Given the description of an element on the screen output the (x, y) to click on. 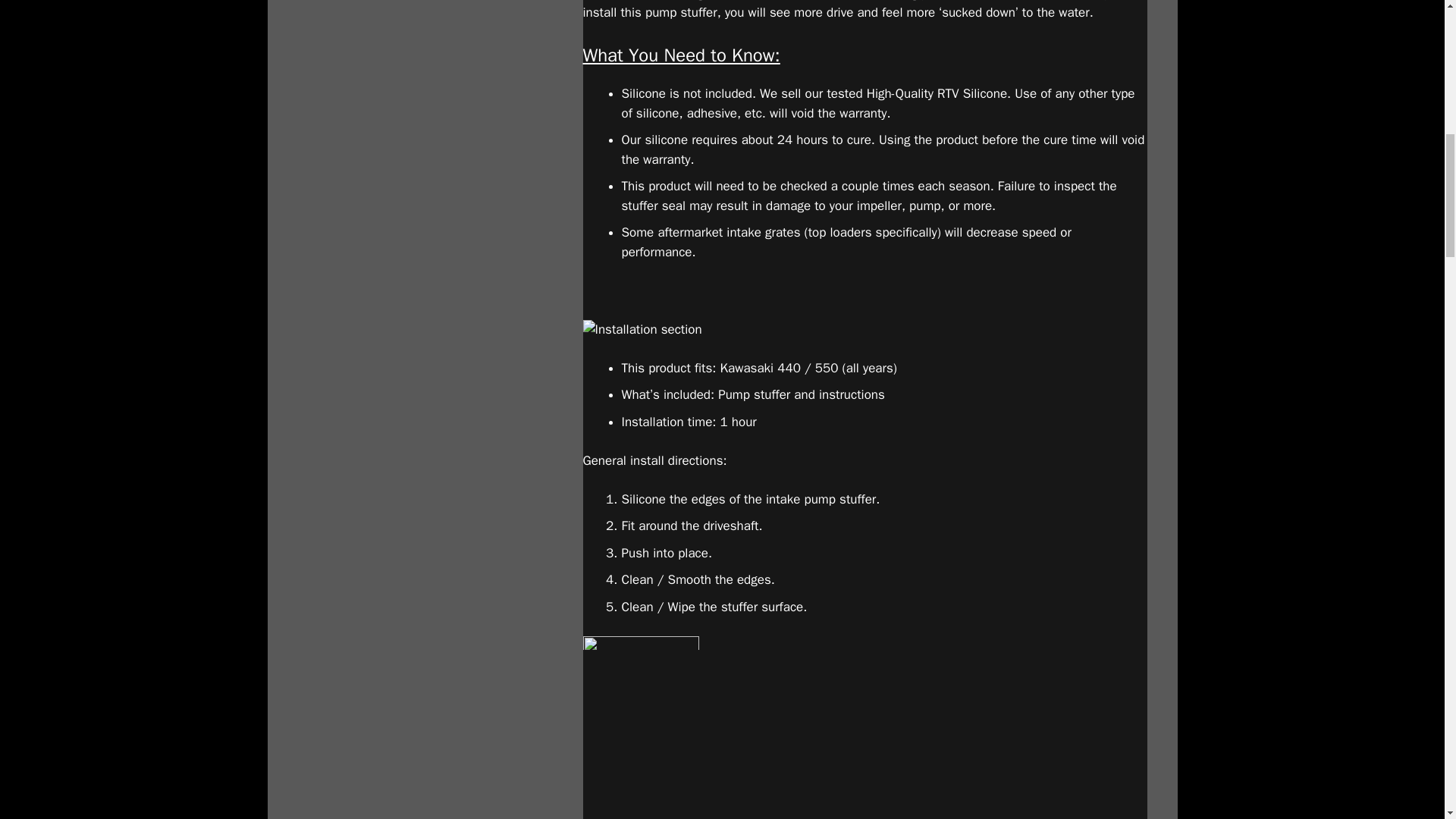
YouTube player (864, 747)
Scroll back to top (1406, 720)
